Given the description of an element on the screen output the (x, y) to click on. 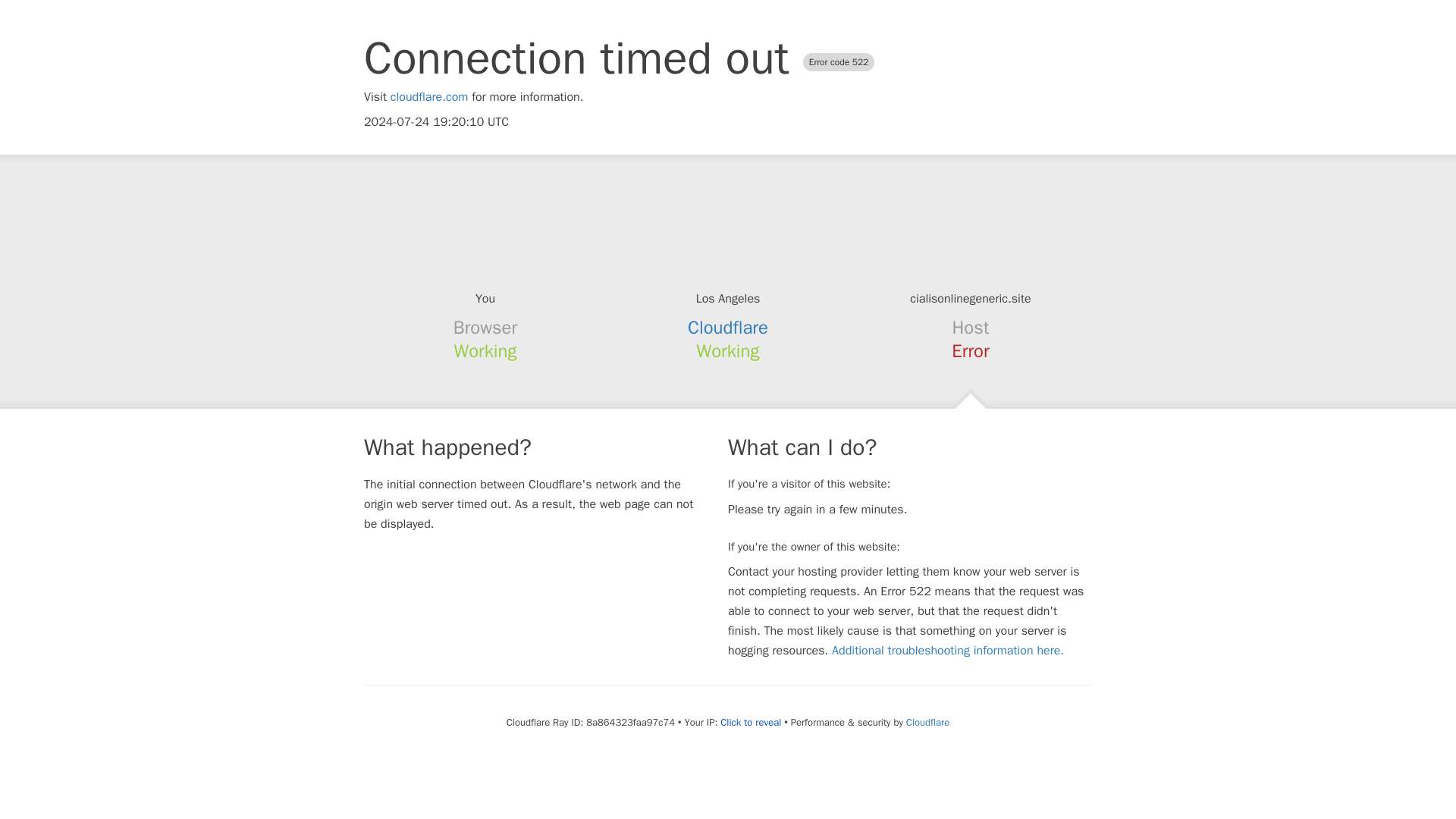
Cloudflare (727, 327)
cloudflare.com (429, 96)
Cloudflare (927, 721)
Click to reveal (750, 722)
Additional troubleshooting information here. (947, 650)
